Given the description of an element on the screen output the (x, y) to click on. 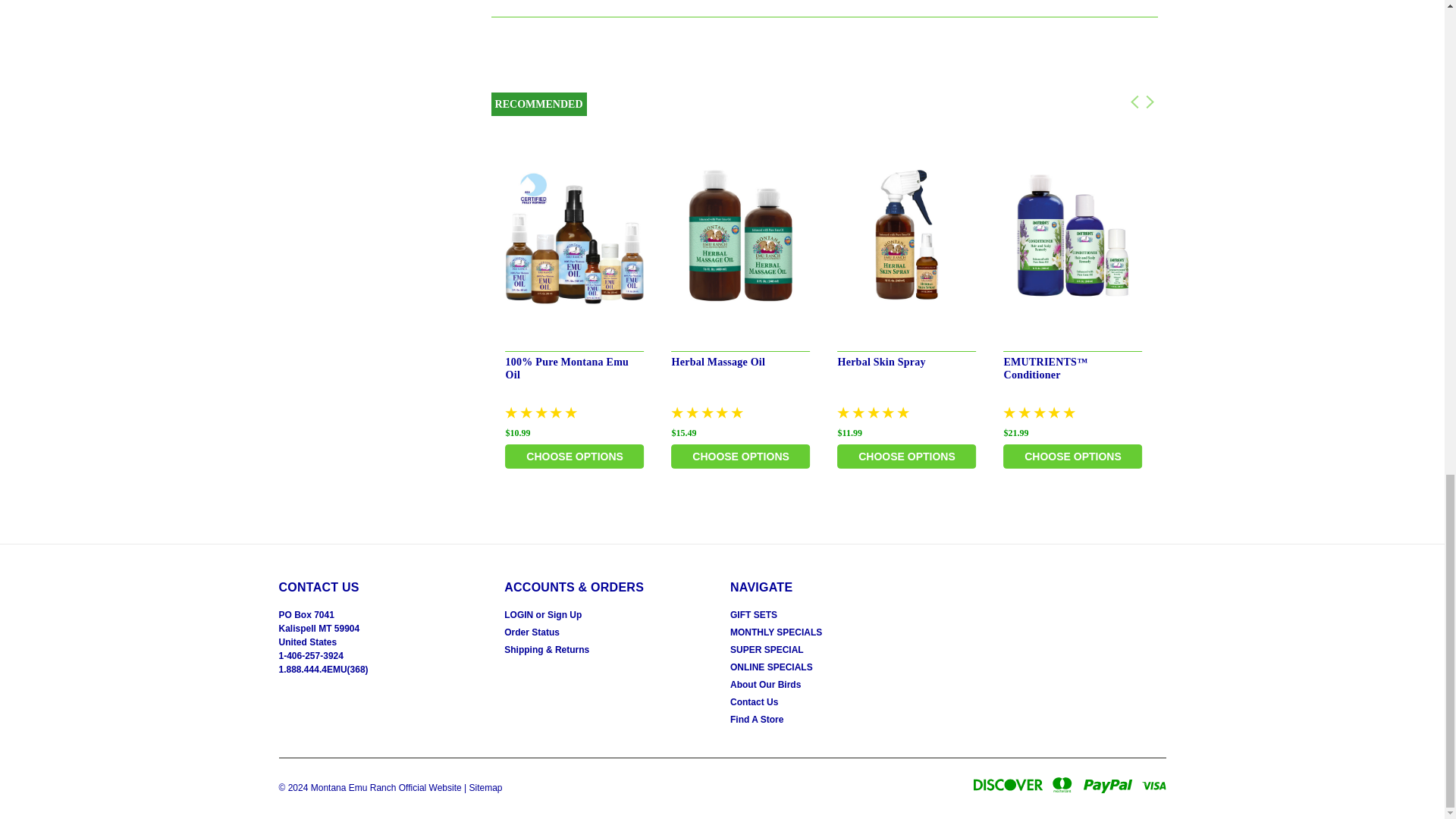
Herbal Skin Spray (907, 236)
Herbal Massage Oil (740, 236)
